Given the description of an element on the screen output the (x, y) to click on. 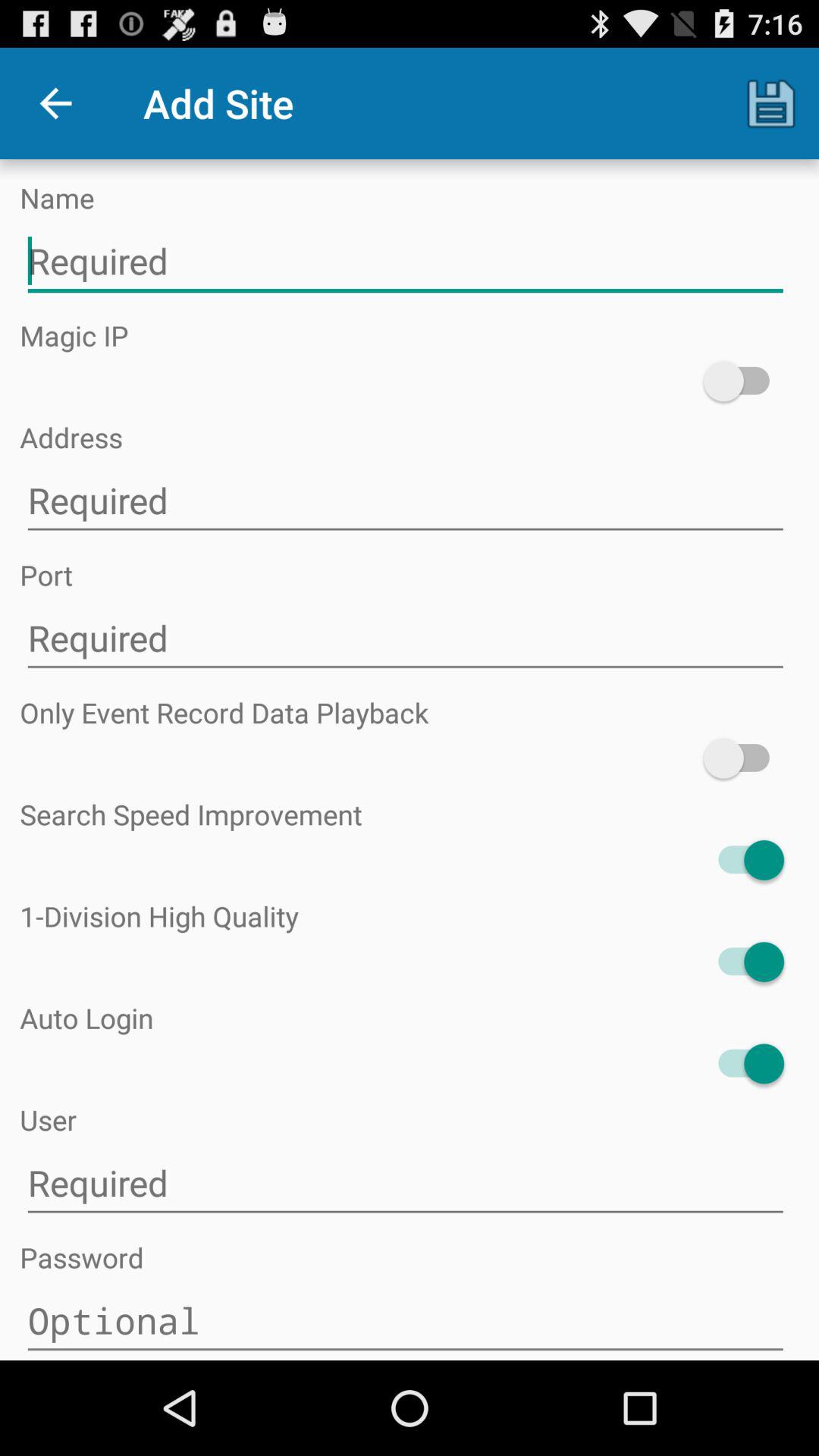
required section (405, 638)
